Given the description of an element on the screen output the (x, y) to click on. 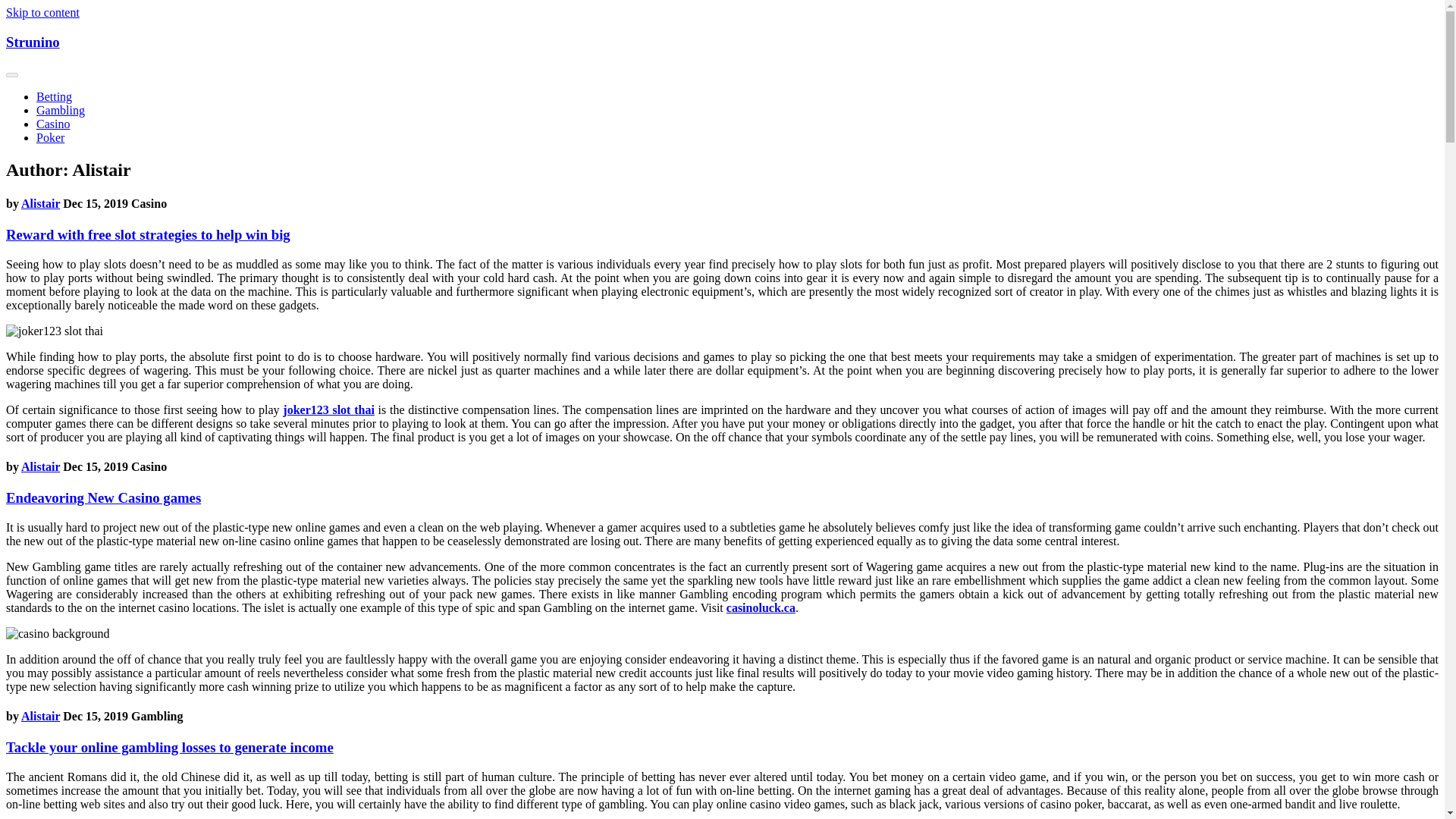
joker123 slot thai (328, 409)
Endeavoring New Casino games (102, 497)
Betting (53, 96)
Gambling (60, 110)
Alistair (40, 203)
Tackle your online gambling losses to generate income (169, 747)
Poker (50, 137)
Alistair (40, 716)
Skip to content (42, 11)
Reward with free slot strategies to help win big (147, 234)
